Given the description of an element on the screen output the (x, y) to click on. 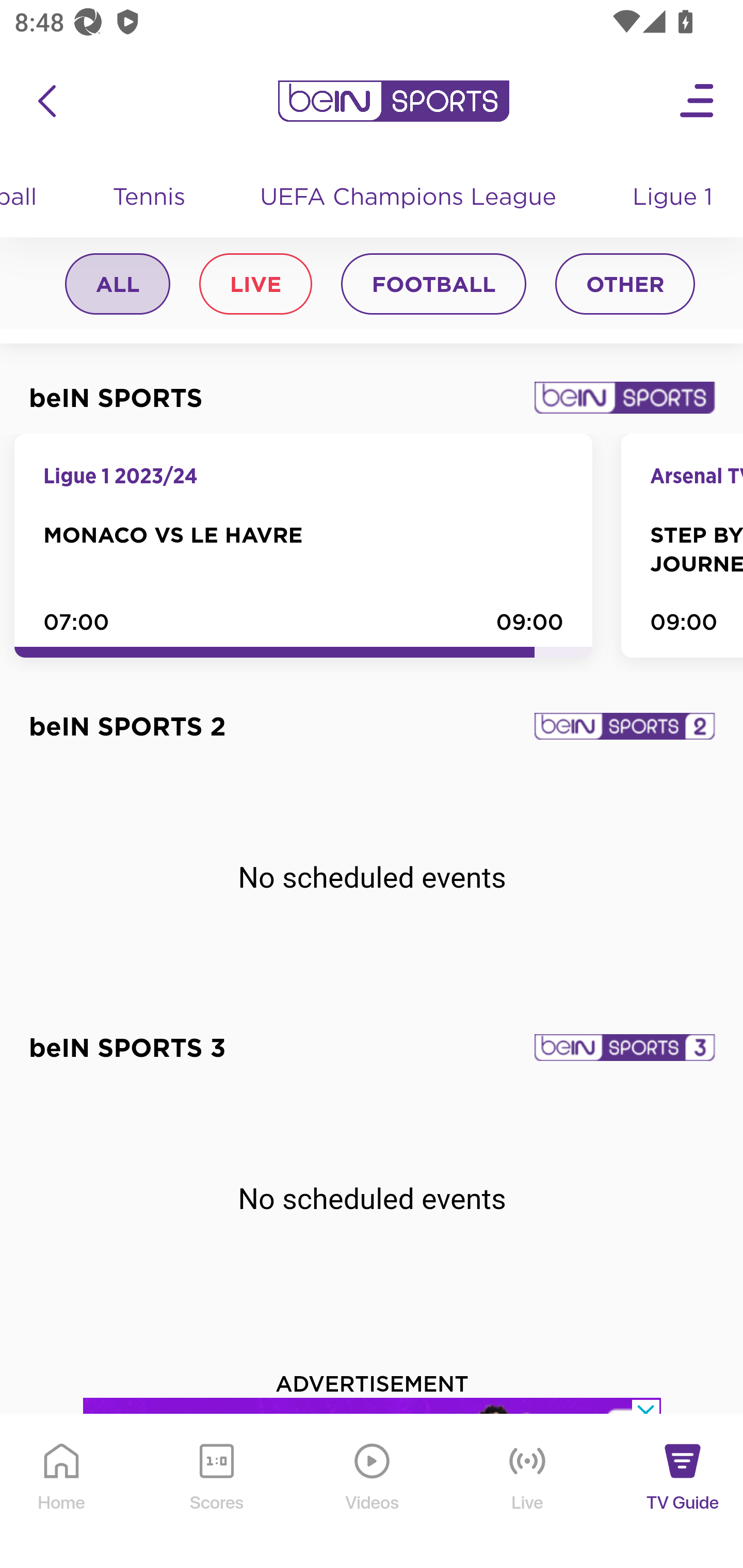
en-my?platform=mobile_android bein logo (392, 101)
icon back (46, 101)
Open Menu Icon (697, 101)
Tennis (150, 198)
UEFA Champions League (410, 198)
Ligue 1 (674, 198)
ALL (118, 286)
LIVE (255, 286)
FOOTBALL (433, 286)
OTHER (625, 286)
Home Home Icon Home (61, 1491)
Scores Scores Icon Scores (216, 1491)
Videos Videos Icon Videos (372, 1491)
TV Guide TV Guide Icon TV Guide (682, 1491)
